Given the description of an element on the screen output the (x, y) to click on. 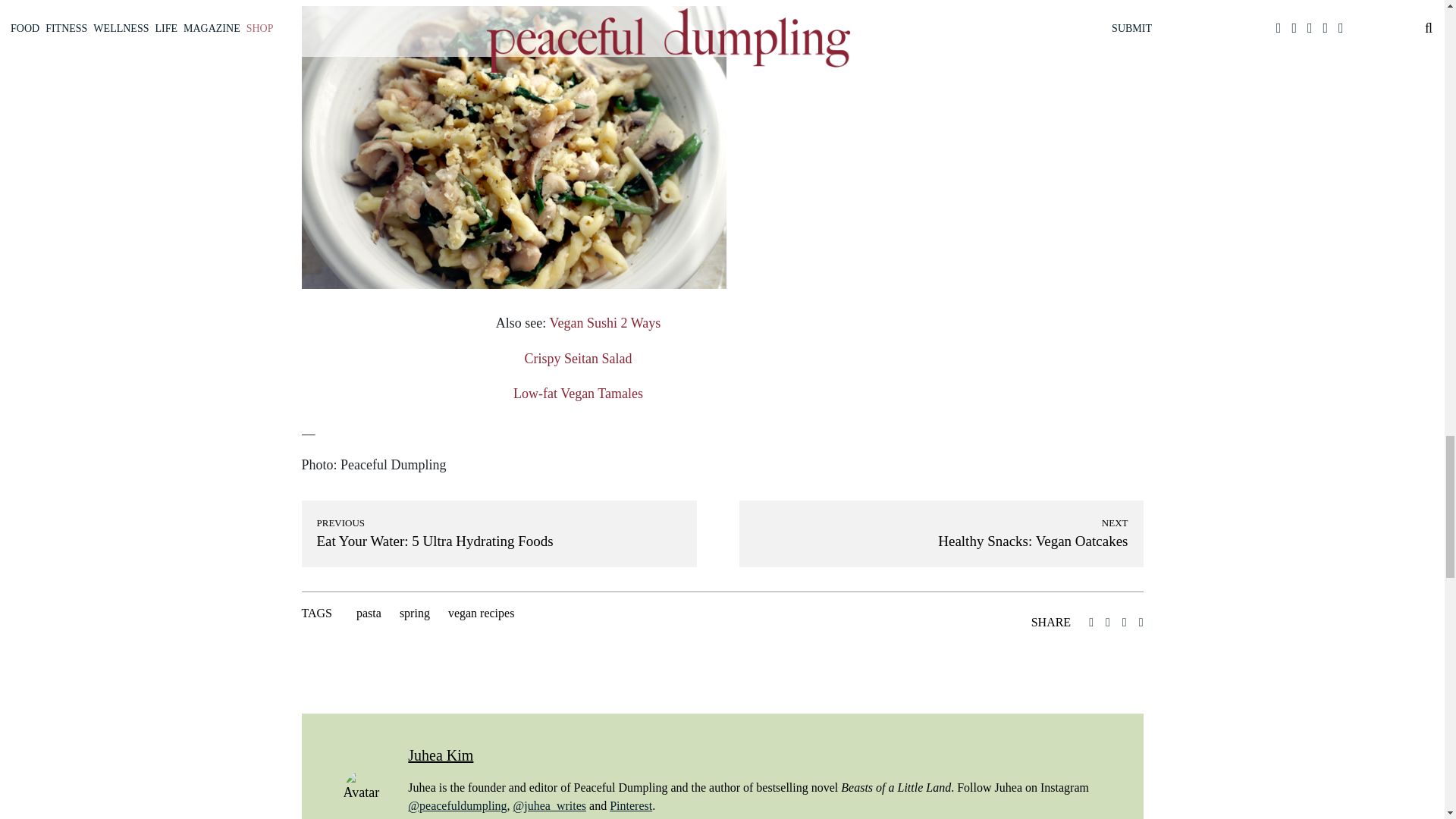
How to Make Vegan Sushi (604, 322)
Crispy Seitan Salad with Chia Seed Dressing (577, 358)
Healthy Dinner: Low Fat Vegan Tamales (578, 393)
